Given the description of an element on the screen output the (x, y) to click on. 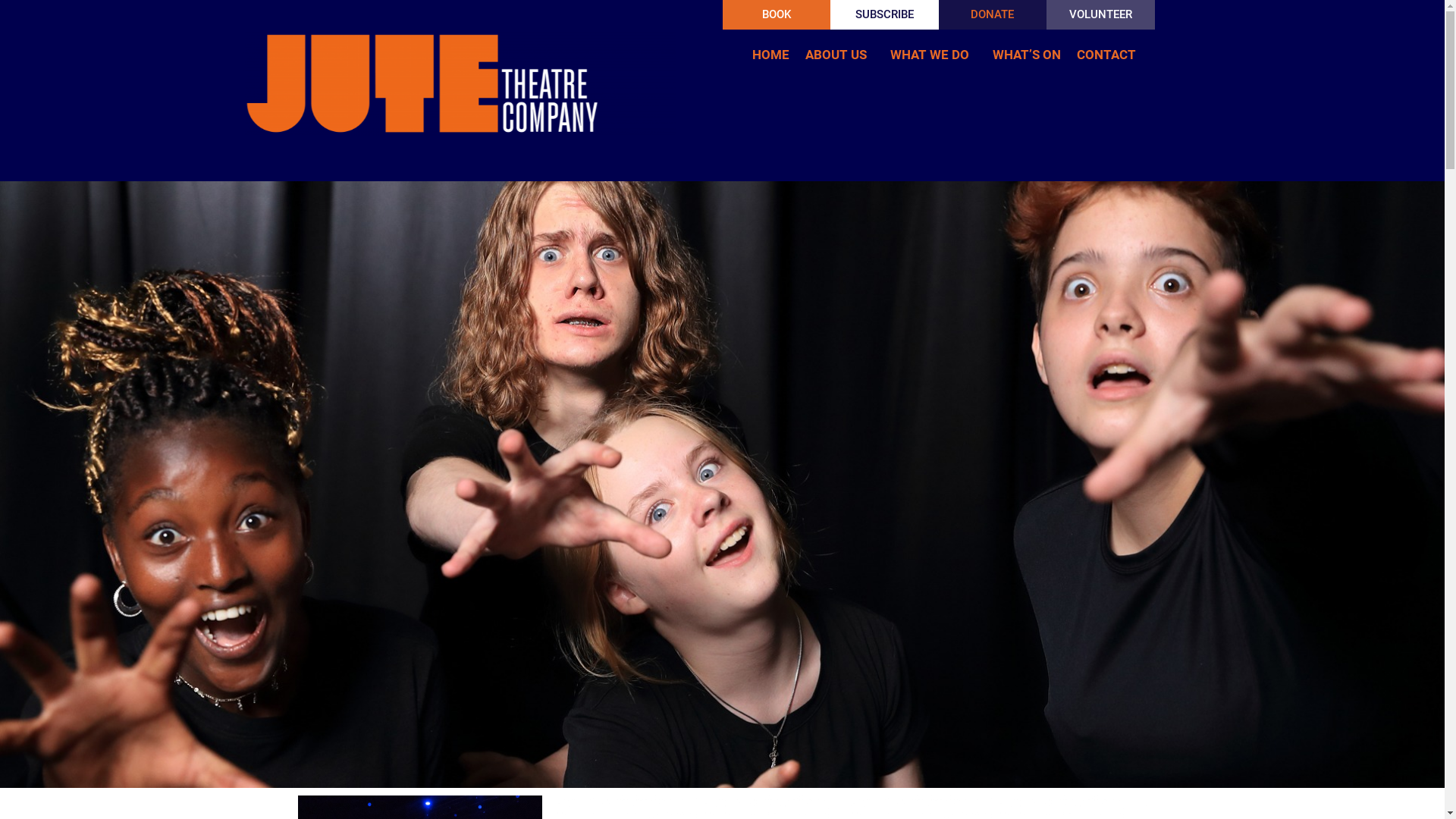
DONATE Element type: text (992, 14)
ABOUT US Element type: text (838, 54)
CONTACT Element type: text (1109, 54)
BOOK Element type: text (775, 14)
SUBSCRIBE Element type: text (884, 14)
WHAT WE DO Element type: text (932, 54)
HOME Element type: text (769, 54)
VOLUNTEER Element type: text (1100, 14)
